Given the description of an element on the screen output the (x, y) to click on. 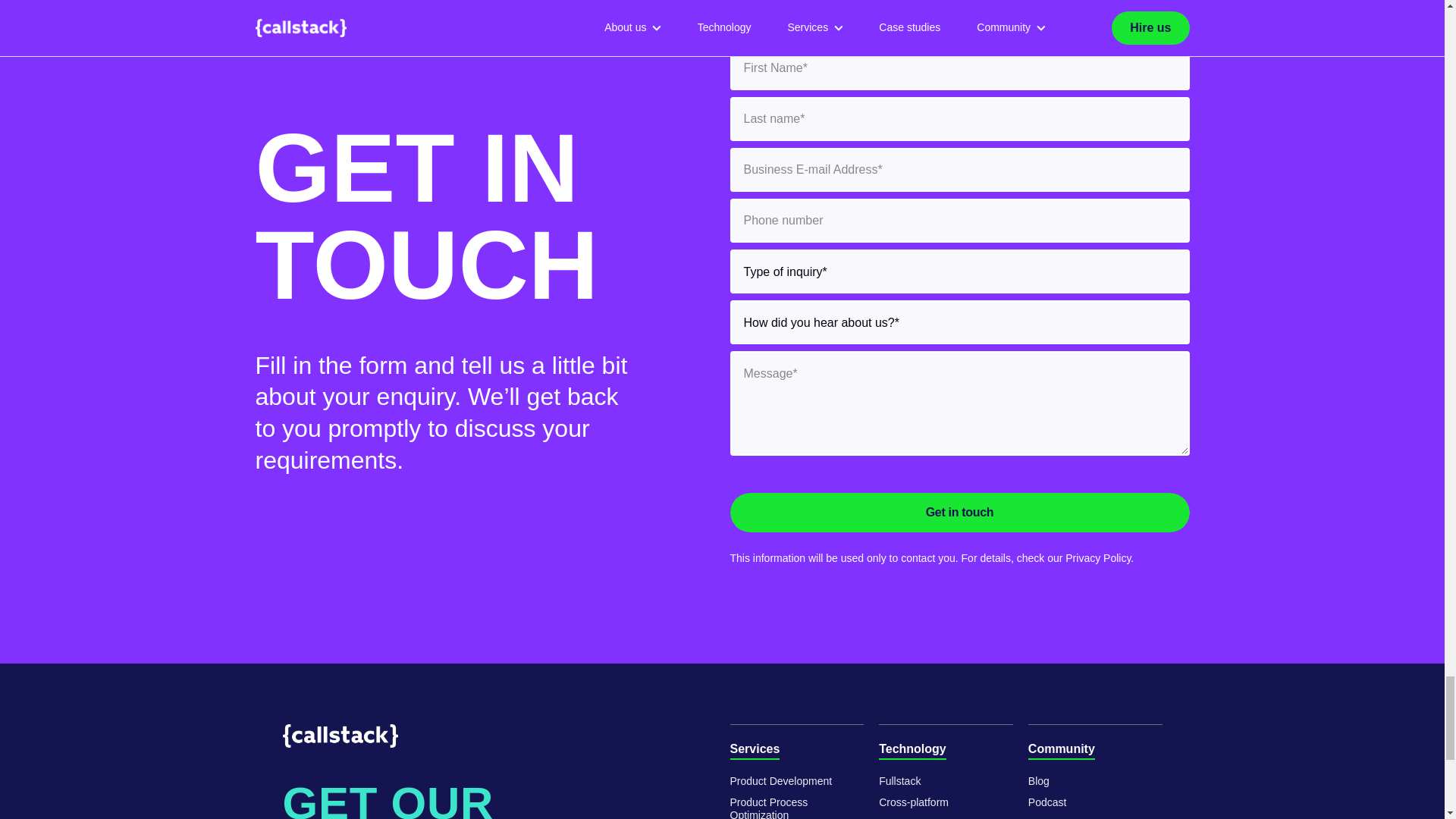
React native for Desktop (899, 780)
React native for Desktop (914, 802)
Blog (1038, 780)
Product Process Optimization (796, 807)
Product Development (780, 780)
React native for Desktop (909, 818)
Podcast (1047, 802)
